Given the description of an element on the screen output the (x, y) to click on. 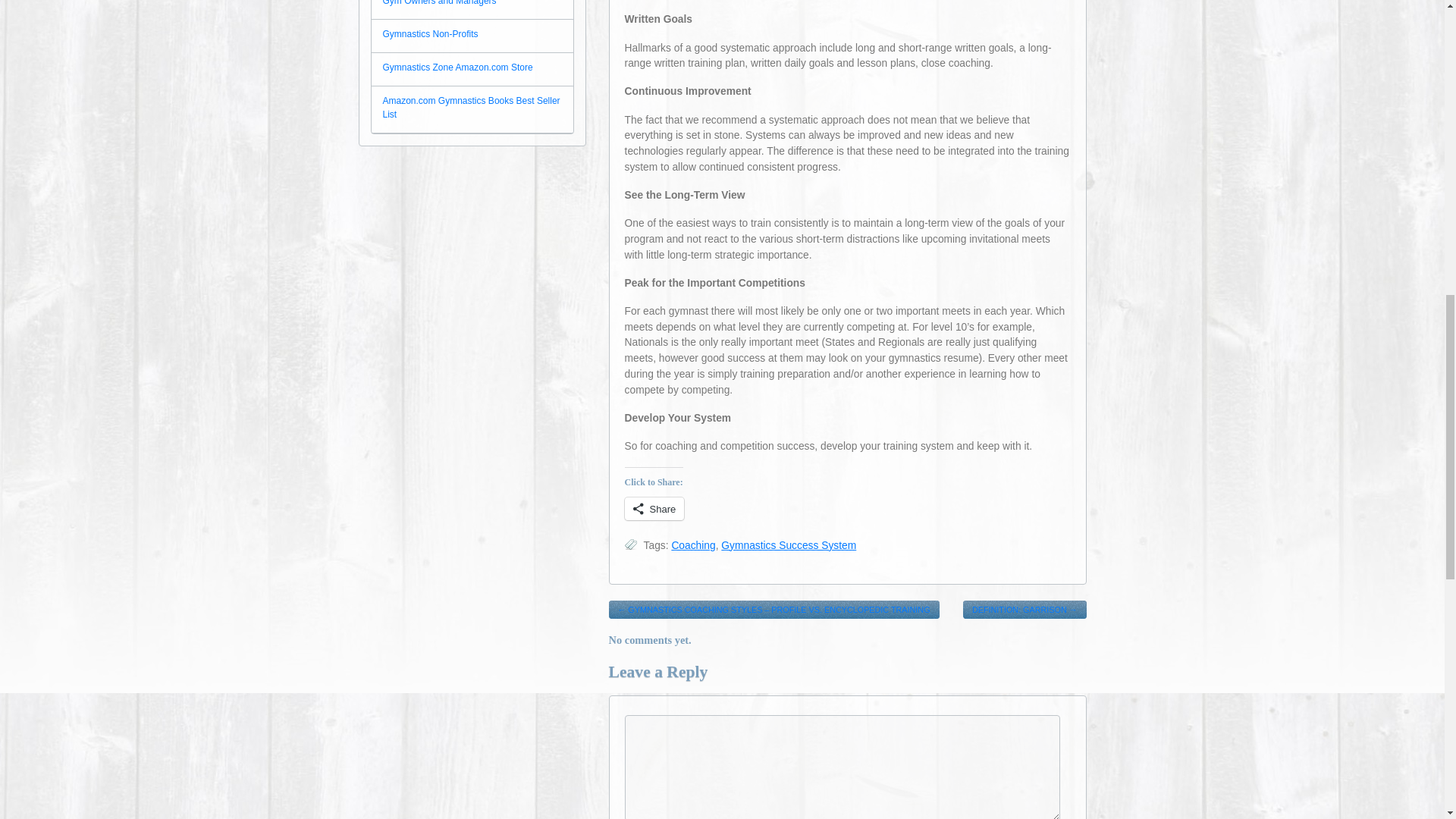
Share (654, 508)
Coaching (692, 545)
Gymnastics Success System (788, 545)
